Given the description of an element on the screen output the (x, y) to click on. 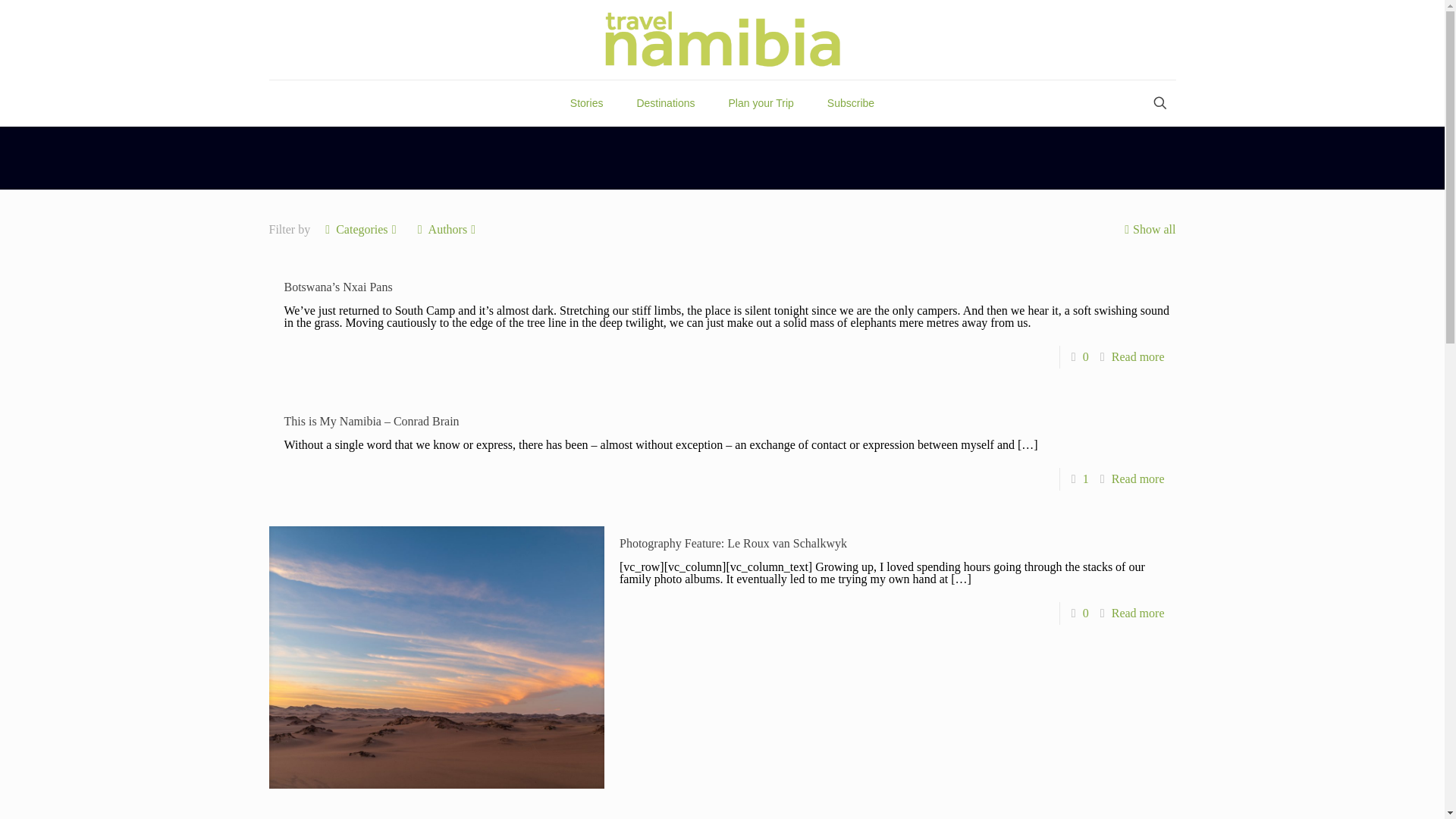
Subscribe (850, 103)
Show all (1147, 228)
Travel Namibia (722, 39)
Categories (361, 228)
Destinations (665, 103)
Stories (586, 103)
Plan your Trip (760, 103)
Authors (447, 228)
